Given the description of an element on the screen output the (x, y) to click on. 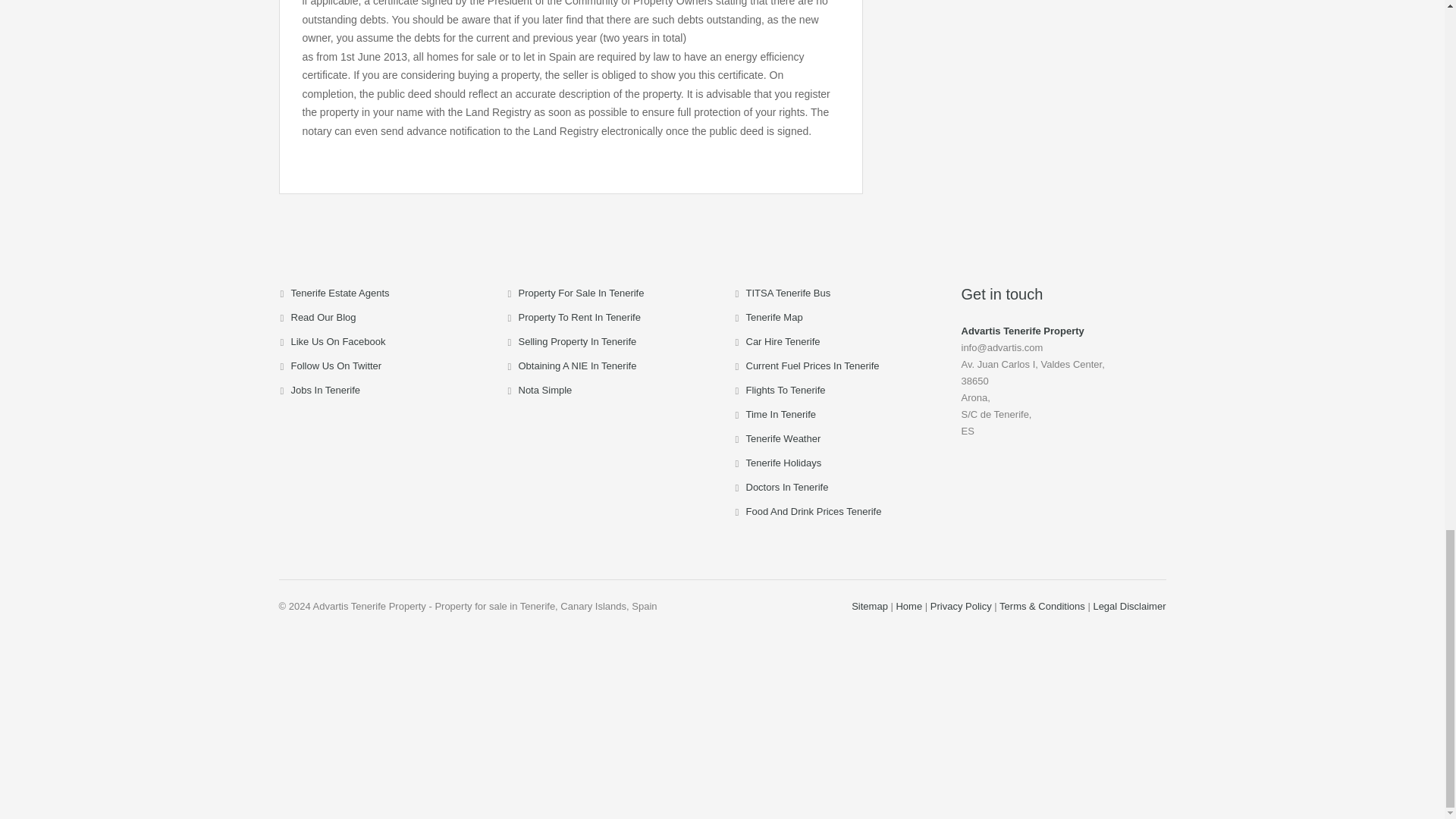
Tenerife Weather (783, 438)
Time In Tenerife (780, 414)
Car Hire Tenerife (783, 341)
Tenerife Estate Agents (340, 292)
Current Fuel Prices In Tenerife (812, 365)
Jobs In Tenerife (326, 389)
Obtaining A NIE In Tenerife (577, 365)
Flights To Tenerife (785, 389)
TITSA Tenerife Bus (788, 292)
Selling Property In Tenerife (577, 341)
Follow Us On Twitter (336, 365)
Like Us On Facebook (338, 341)
Property To Rent In Tenerife (579, 317)
Read Our Blog (323, 317)
Tenerife Map (774, 317)
